Given the description of an element on the screen output the (x, y) to click on. 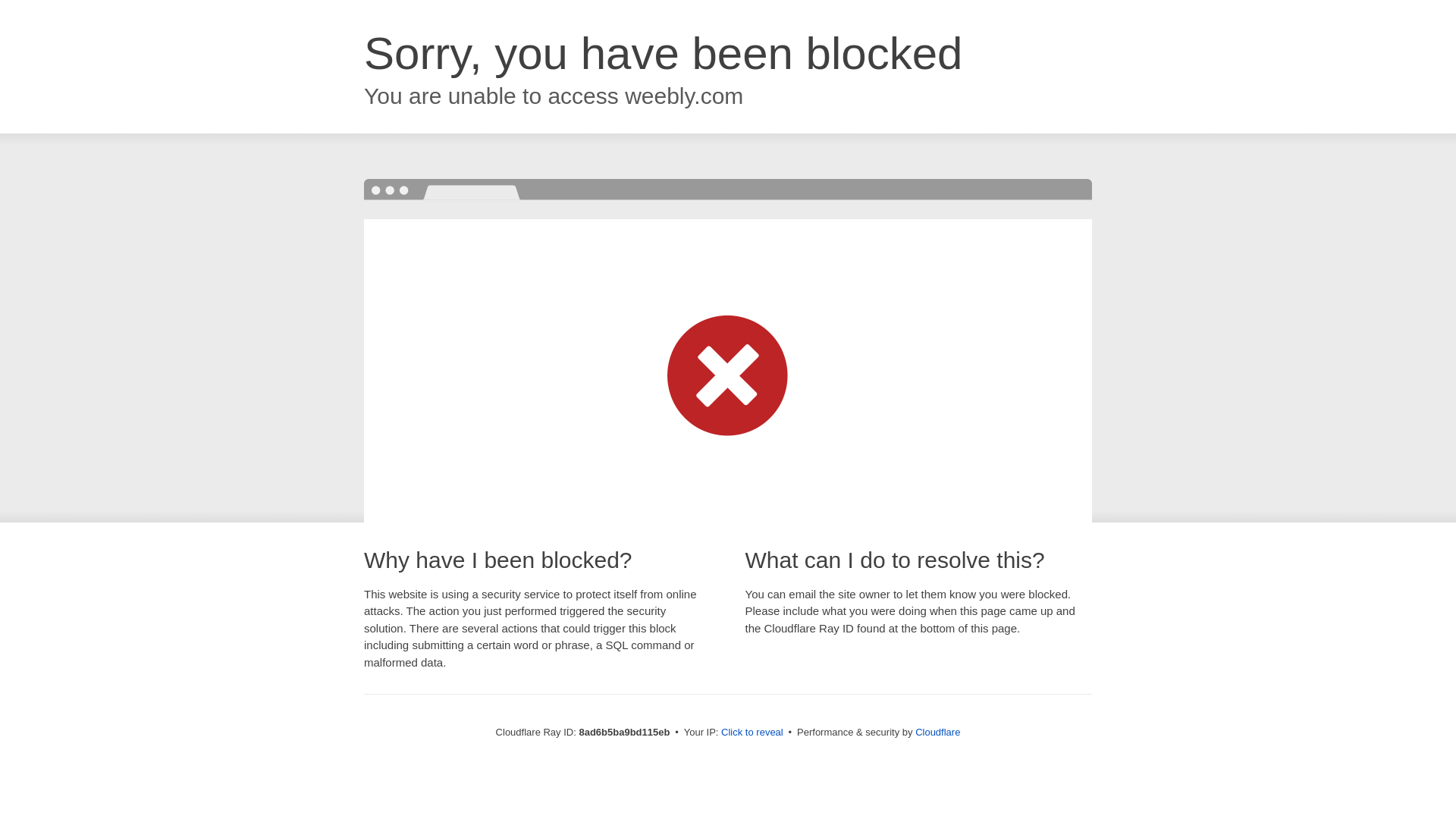
Cloudflare (937, 731)
Click to reveal (751, 732)
